Given the description of an element on the screen output the (x, y) to click on. 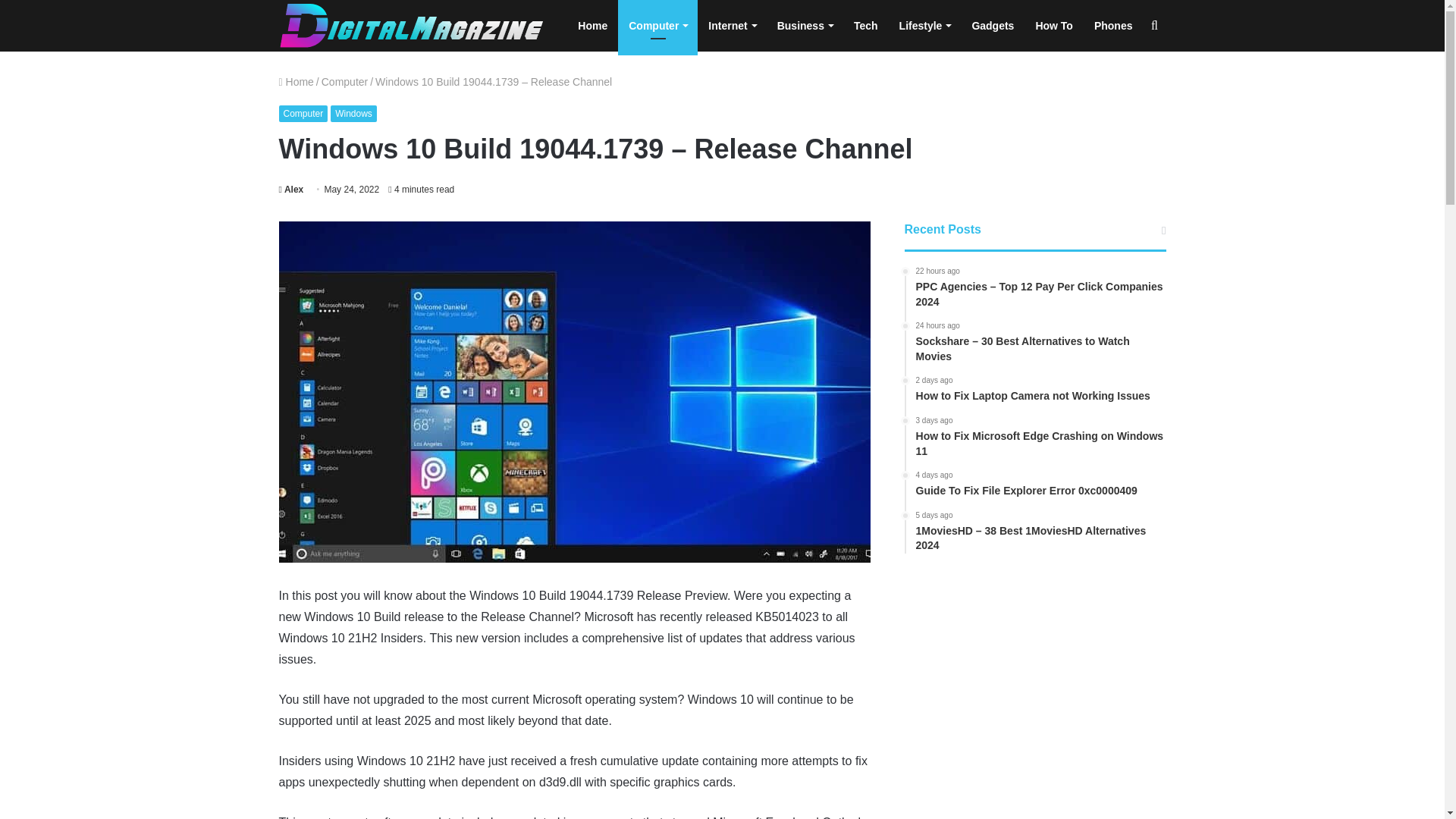
Computer (344, 81)
Windows (353, 113)
Phones (1112, 25)
How To (1054, 25)
Gadgets (992, 25)
Lifestyle (924, 25)
Home (592, 25)
Alex (291, 189)
Digital Magazine (411, 25)
Business (805, 25)
